Given the description of an element on the screen output the (x, y) to click on. 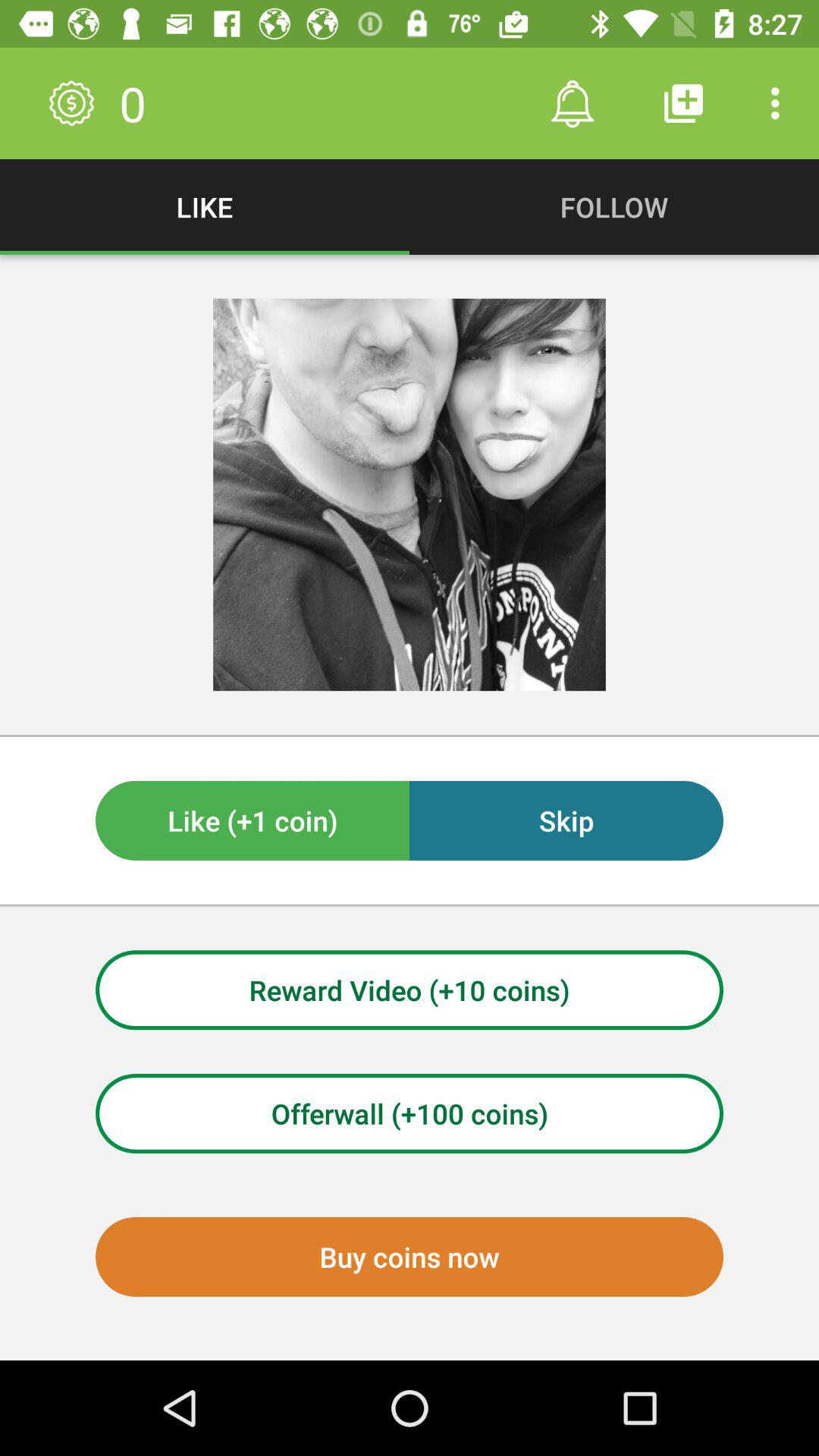
open item to the right of like (+1 coin) item (566, 820)
